Given the description of an element on the screen output the (x, y) to click on. 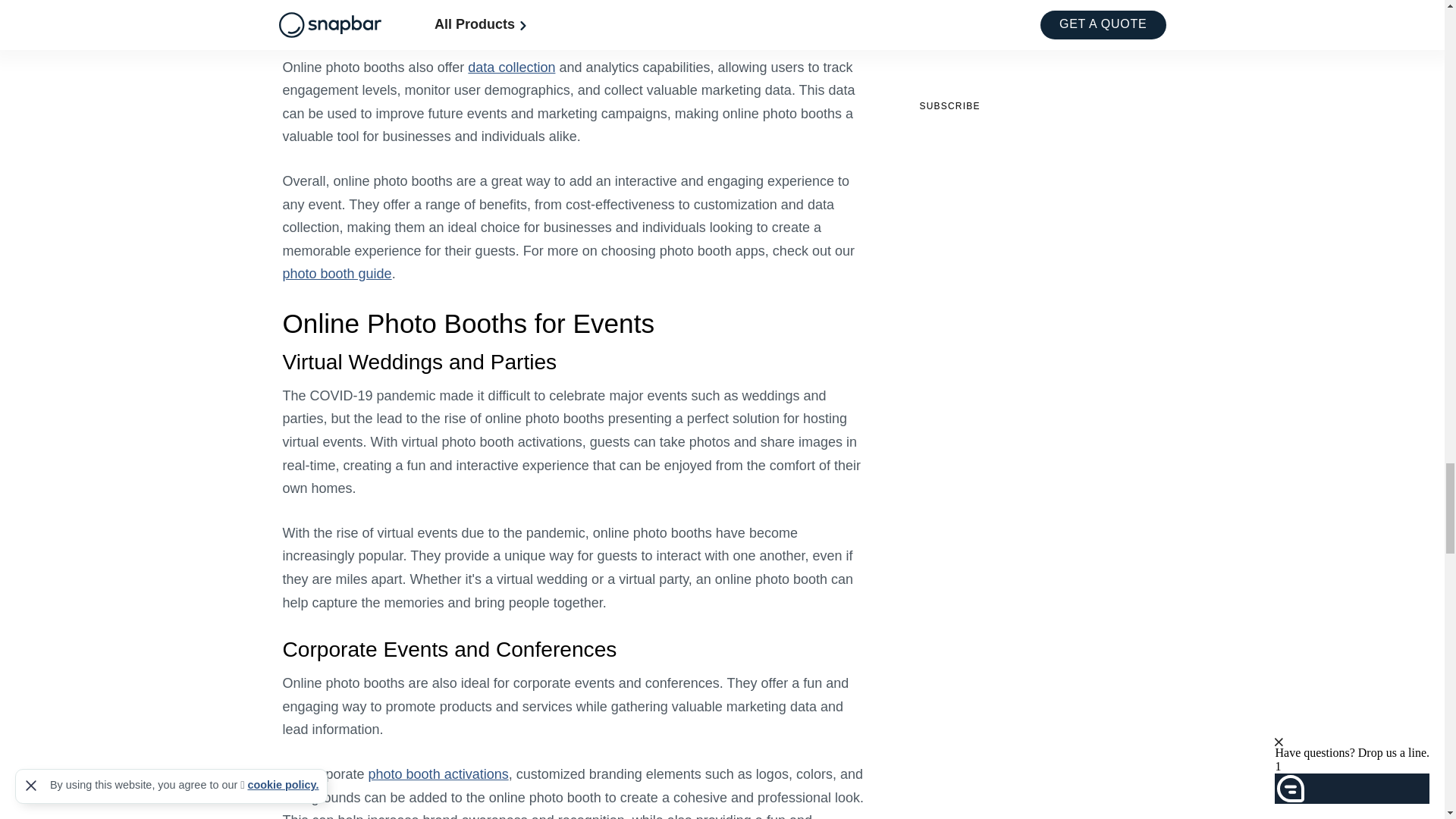
photo booth activations (438, 774)
data collection (510, 67)
photo booth guide (336, 273)
